Given the description of an element on the screen output the (x, y) to click on. 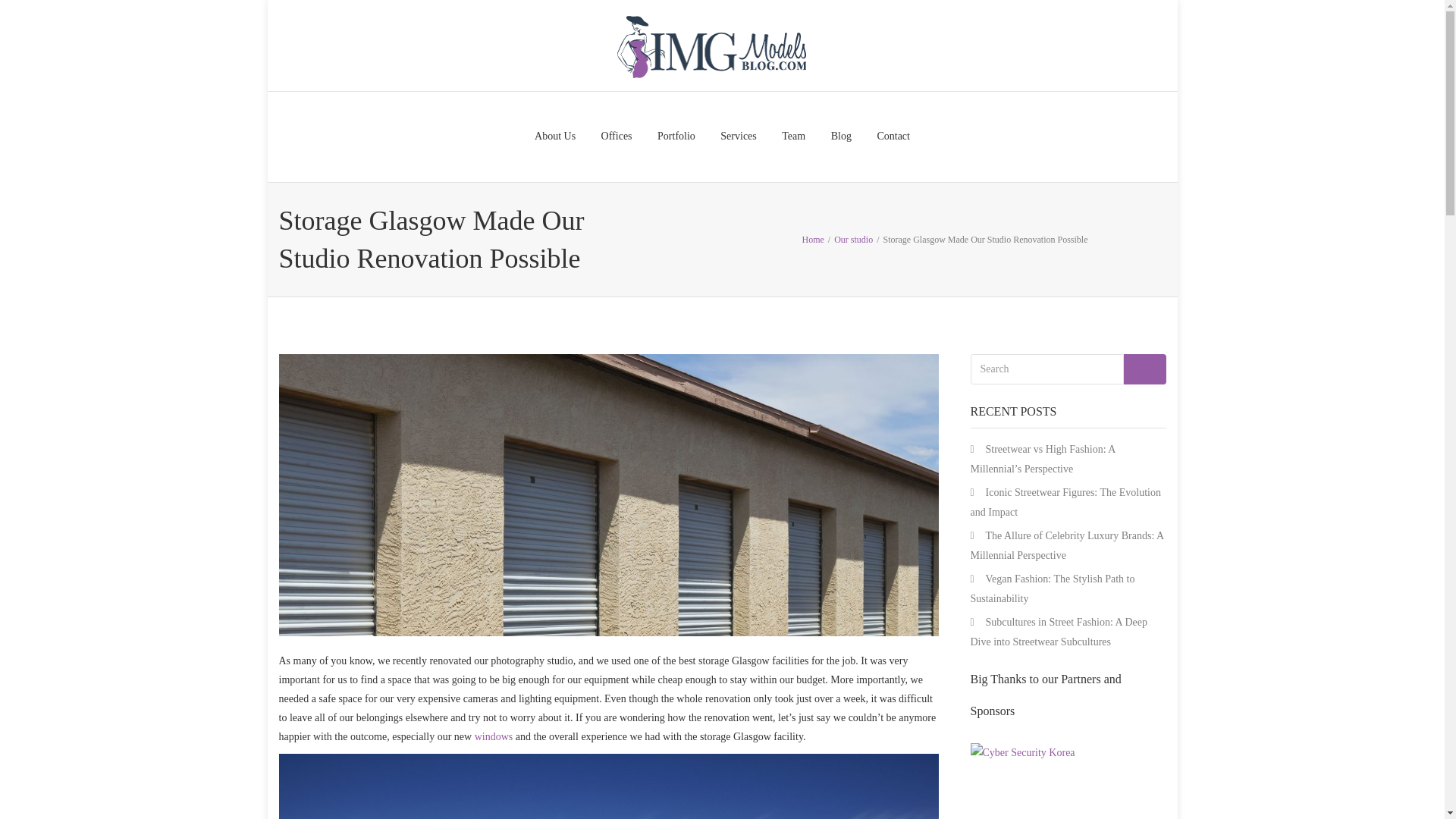
Iconic Streetwear Figures: The Evolution and Impact (1065, 501)
windows (493, 736)
Our studio (853, 238)
Vegan Fashion: The Stylish Path to Sustainability (1053, 588)
IMG Models Blog -  (710, 45)
Home (813, 238)
Go (1145, 368)
